Given the description of an element on the screen output the (x, y) to click on. 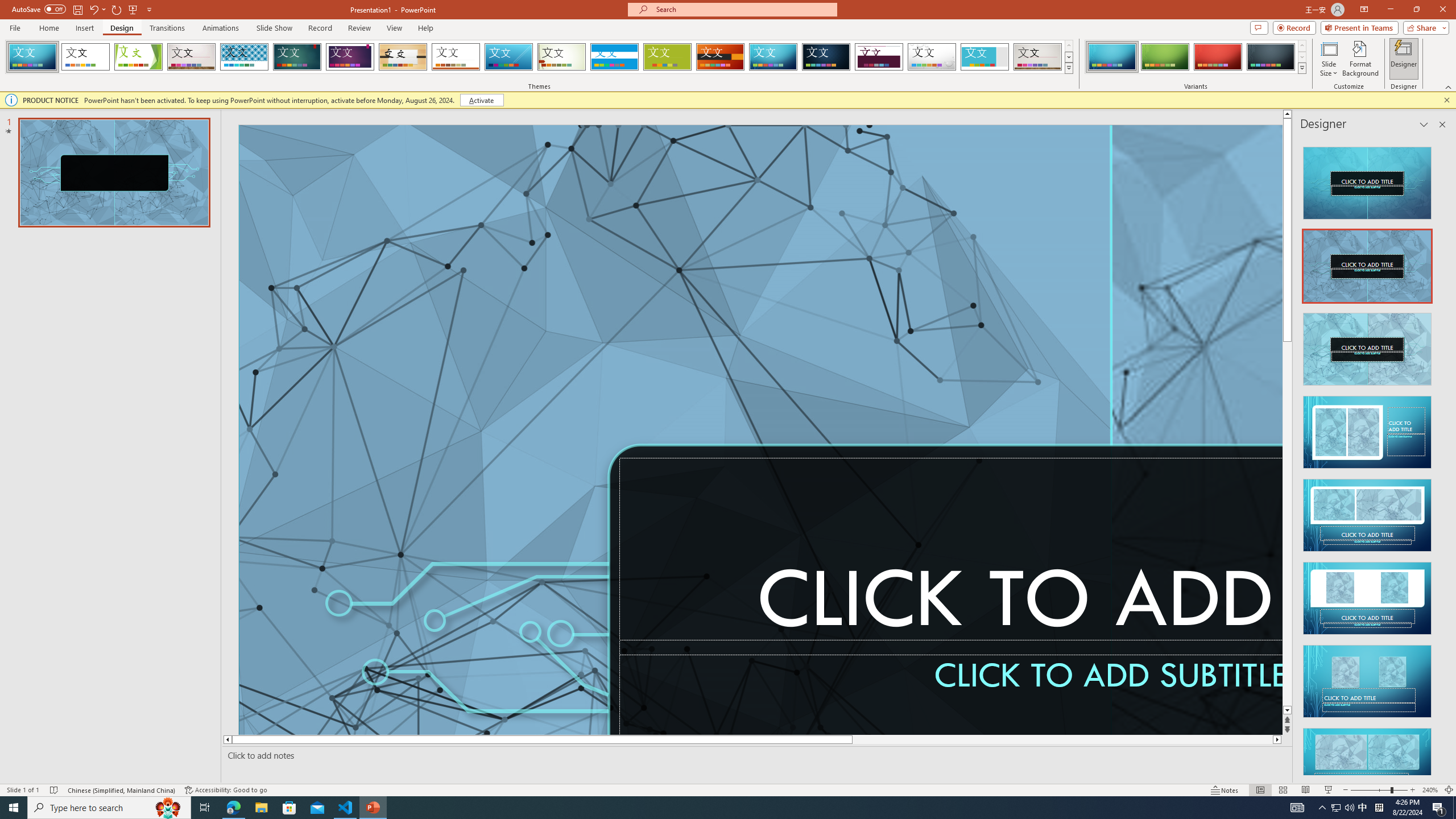
Circuit Variant 3 (1217, 56)
Frame (984, 56)
Ion Boardroom (350, 56)
Organic (403, 56)
